Given the description of an element on the screen output the (x, y) to click on. 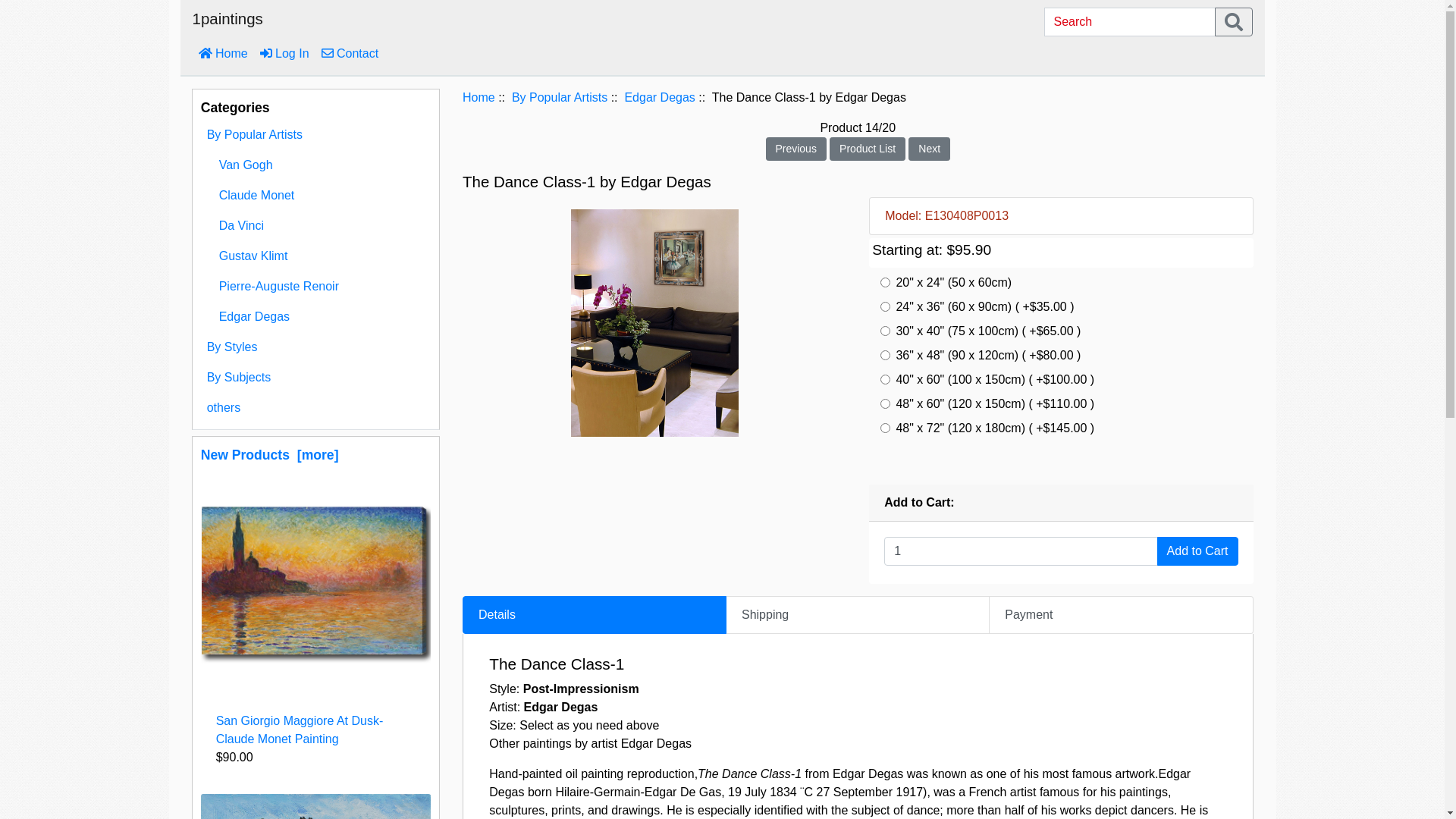
New Products  [more] Element type: text (269, 454)
Da Vinci Element type: text (315, 225)
1paintings Element type: text (227, 22)
By Popular Artists Element type: text (315, 134)
Log In Element type: text (284, 53)
Pierre-Auguste Renoir Element type: text (315, 286)
Gustav Klimt Element type: text (315, 256)
Claude Monet Element type: text (315, 195)
 The Dance Class-1 by Edgar Degas  Element type: hover (654, 322)
Payment Element type: text (1120, 614)
 San Giorgio Maggiore At Dusk-Claude Monet Painting  Element type: hover (315, 581)
others Element type: text (315, 407)
Details Element type: text (594, 614)
Home Element type: text (478, 97)
Contact Element type: text (350, 53)
San Giorgio Maggiore At Dusk-Claude Monet Painting Element type: text (299, 729)
Home Element type: text (223, 53)
By Popular Artists Element type: text (559, 97)
Van Gogh Element type: text (315, 165)
Add to Cart Element type: text (1197, 550)
By Styles Element type: text (315, 347)
 Product List  Element type: text (867, 147)
Edgar Degas Element type: text (659, 97)
Edgar Degas Element type: text (315, 316)
By Subjects Element type: text (315, 377)
Shipping Element type: text (857, 614)
 Previous  Element type: text (795, 147)
 Next  Element type: text (929, 147)
